Given the description of an element on the screen output the (x, y) to click on. 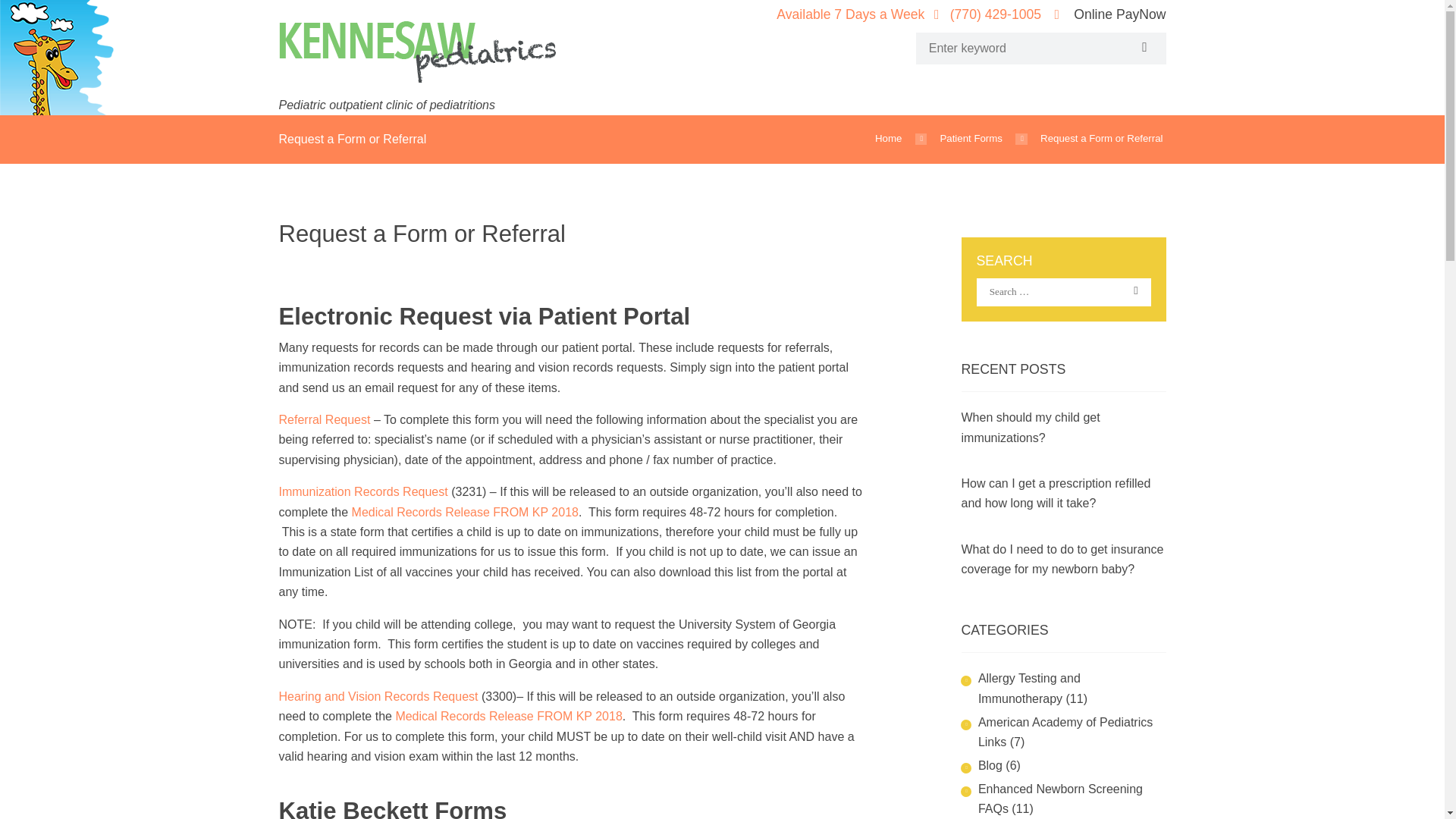
Pediatric outpatient clinic of pediatritions (417, 68)
Start search (1142, 47)
Search for: (1063, 292)
Enter keyword (1026, 48)
Online PayNow (1120, 14)
